Given the description of an element on the screen output the (x, y) to click on. 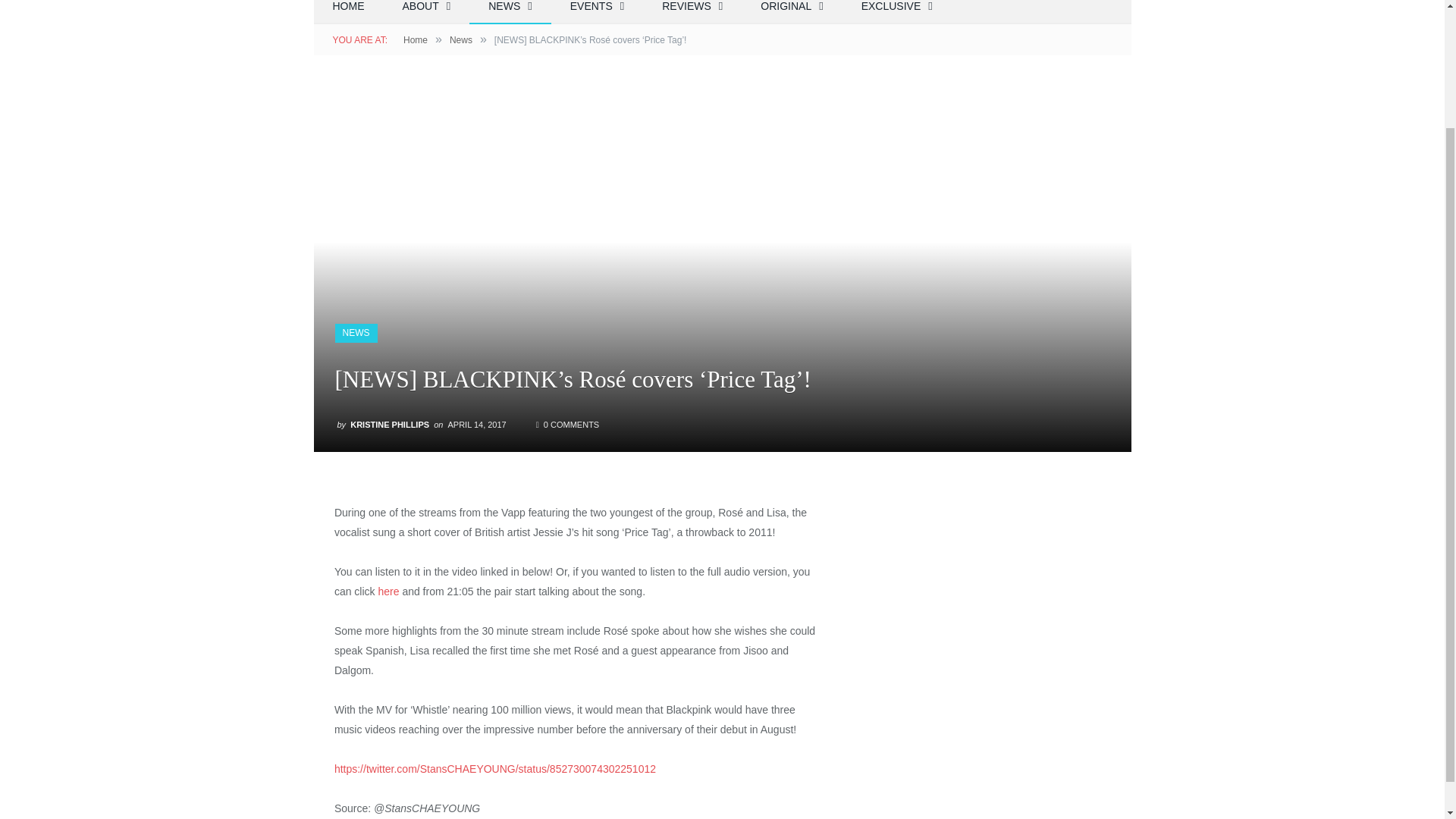
ABOUT (427, 12)
NEWS (509, 12)
HOME (349, 12)
EVENTS (597, 12)
